Given the description of an element on the screen output the (x, y) to click on. 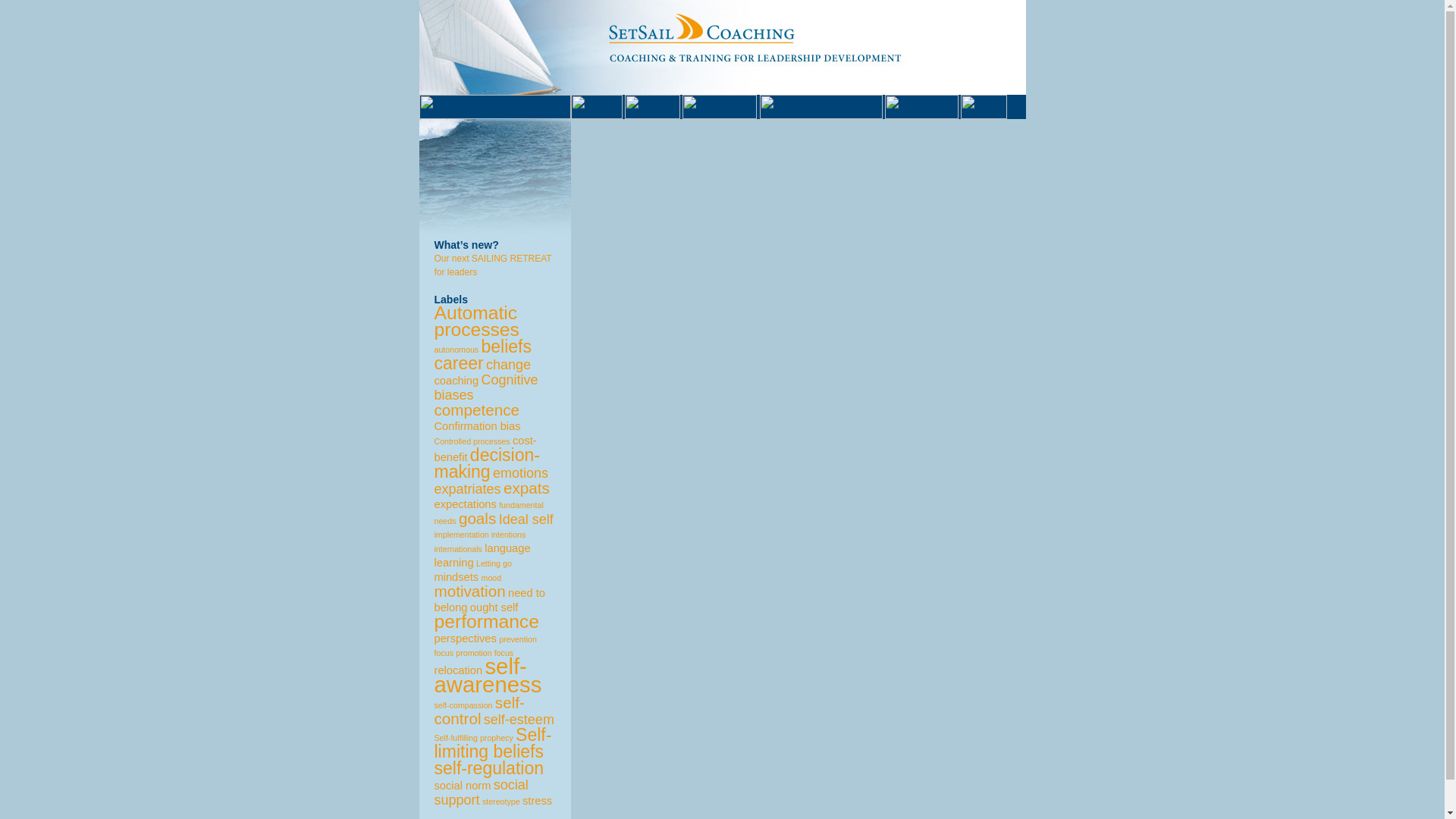
motivation (469, 590)
competence (476, 409)
autonomous (456, 348)
learning (453, 562)
change (508, 364)
performance (485, 620)
cost-benefit (484, 448)
Controlled processes (471, 440)
Confirmation bias (476, 426)
implementation intentions (479, 533)
